Given the description of an element on the screen output the (x, y) to click on. 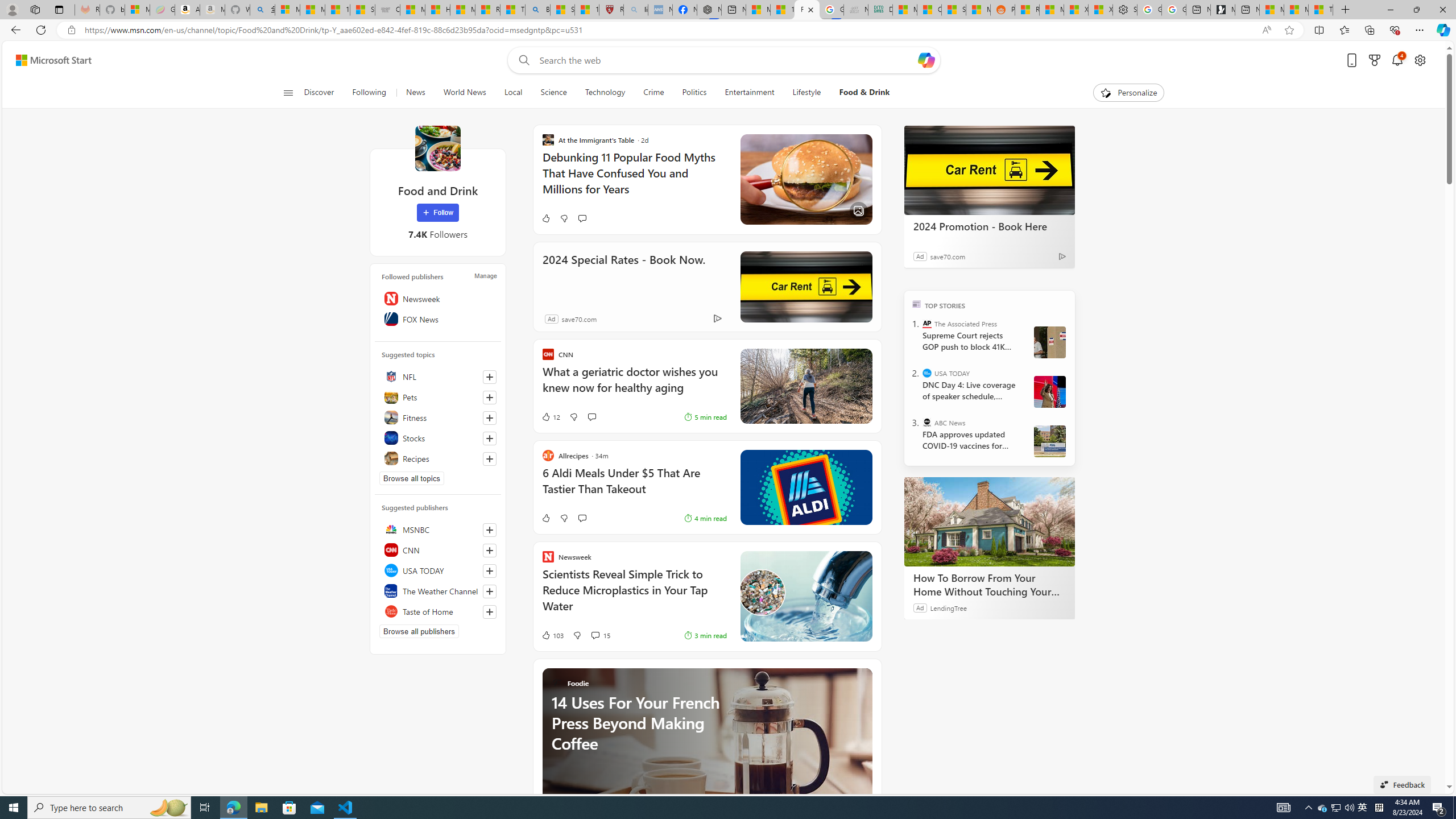
Food & Drink (859, 92)
The Associated Press (927, 323)
The Weather Channel (437, 590)
